Given the description of an element on the screen output the (x, y) to click on. 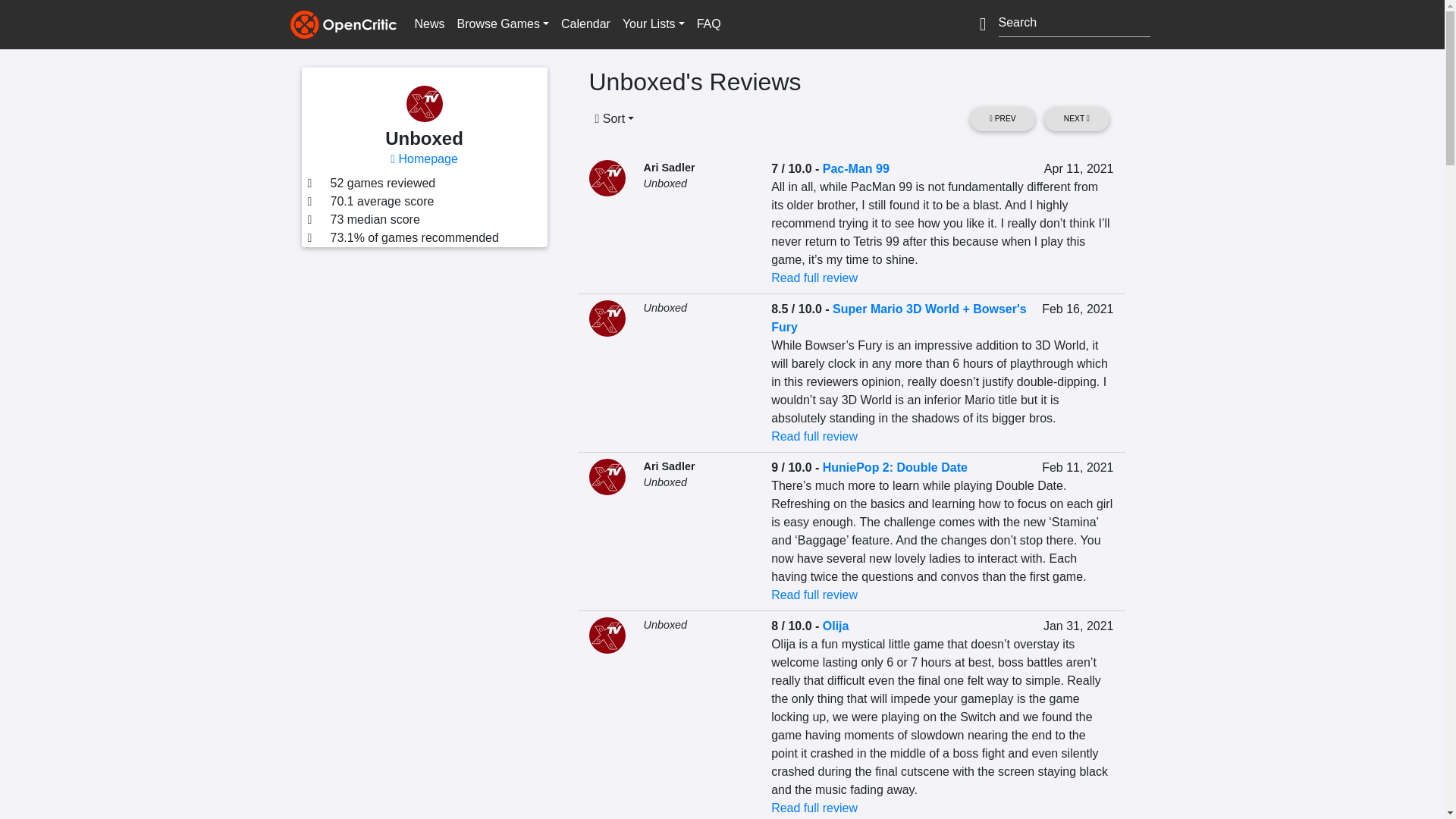
FAQ (708, 24)
Your Lists (652, 24)
Calendar (584, 24)
PREV (1002, 118)
Read full review (814, 436)
Unboxed (665, 183)
NEXT (1075, 118)
Ari Sadler (668, 167)
Unboxed (665, 307)
Read full review (814, 277)
Unboxed (665, 481)
Homepage (424, 158)
Pac-Man 99 (855, 168)
Ari Sadler (668, 466)
News (428, 24)
